Given the description of an element on the screen output the (x, y) to click on. 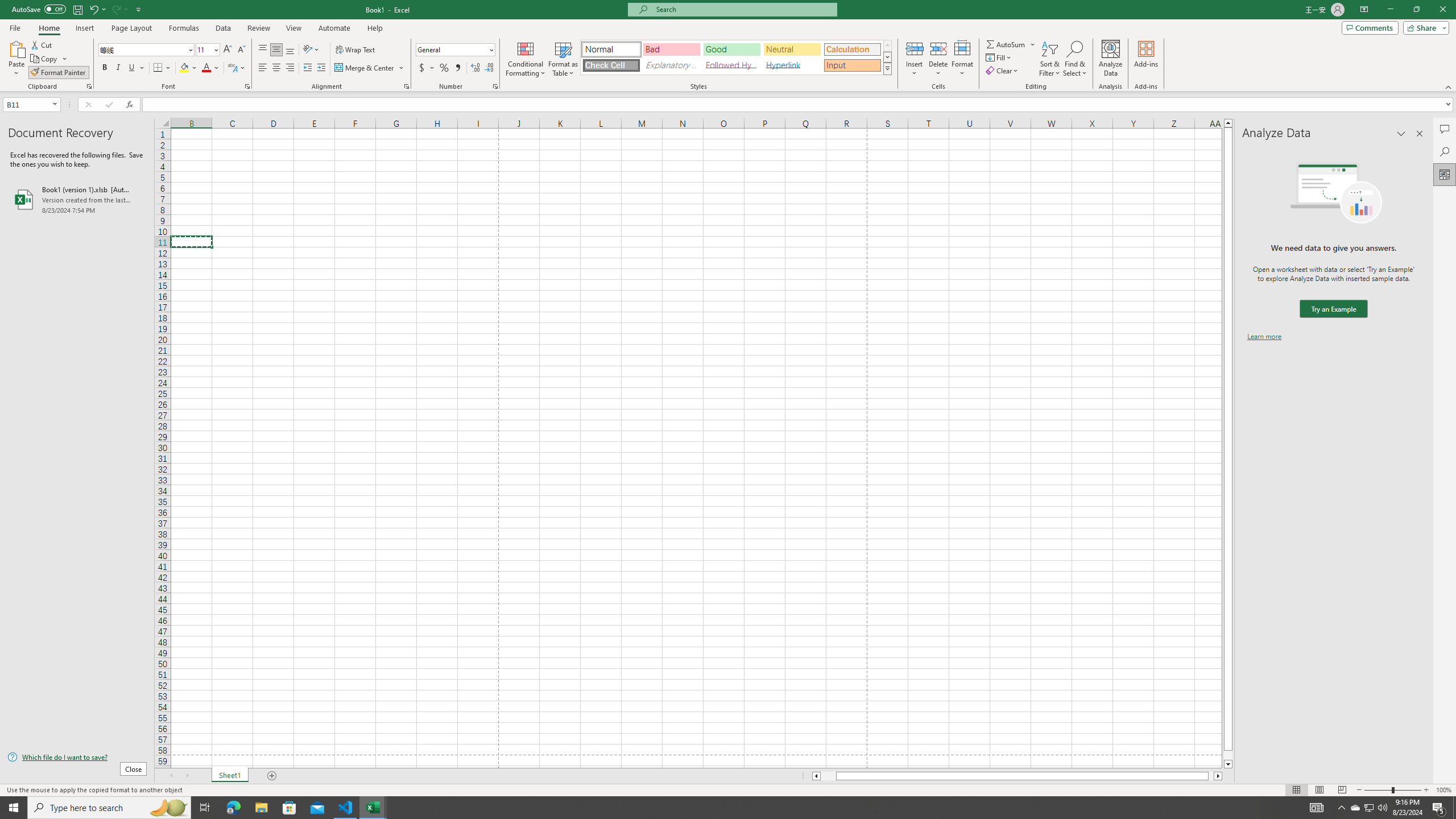
Input (852, 65)
Hyperlink (791, 65)
Find & Select (1075, 58)
Increase Decimal (474, 67)
Decrease Indent (307, 67)
Merge & Center (365, 67)
Italic (118, 67)
Underline (131, 67)
Paste (16, 58)
Check Cell (611, 65)
Search (1444, 151)
